Given the description of an element on the screen output the (x, y) to click on. 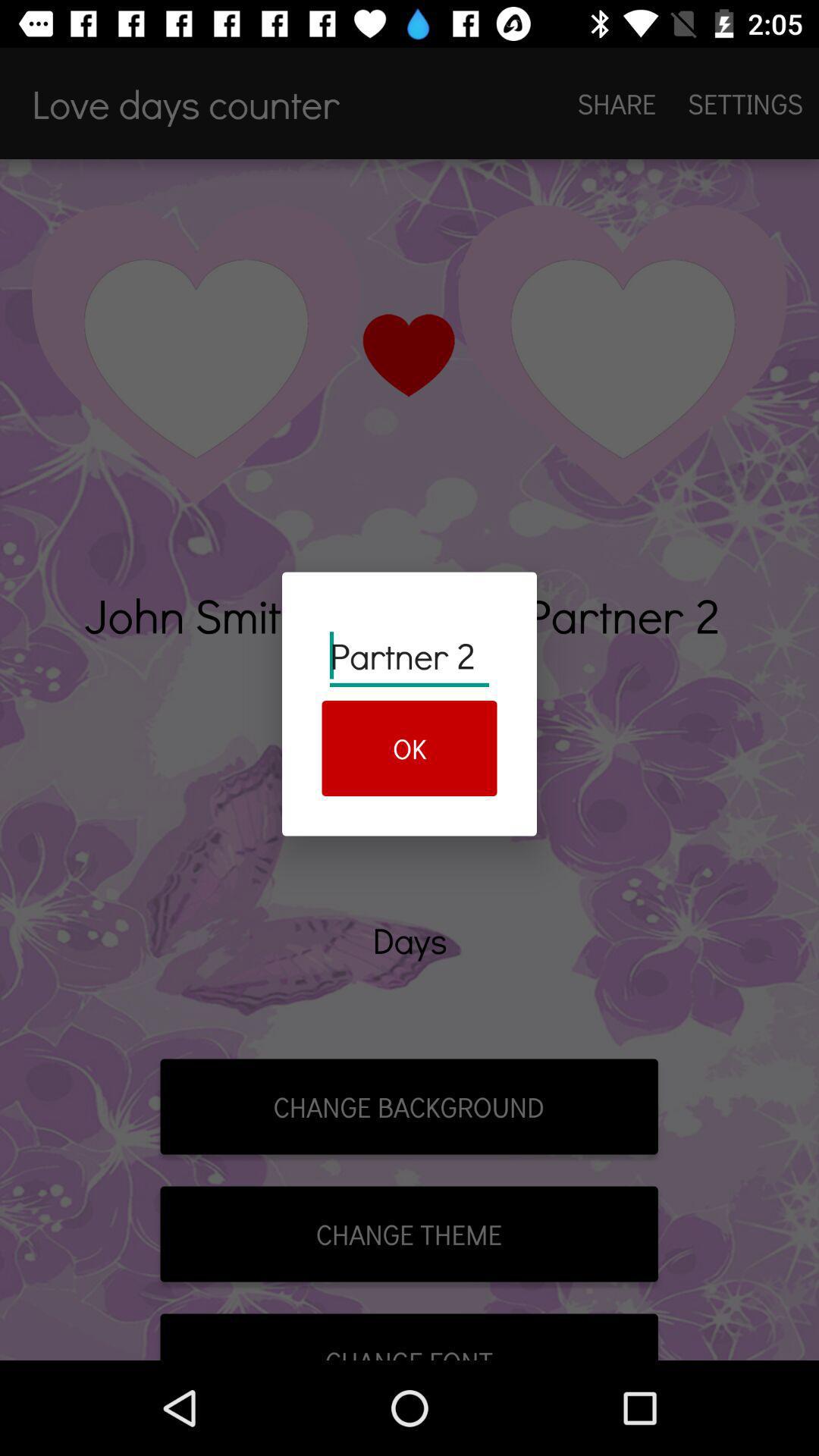
turn on item below partner 2 item (409, 748)
